Given the description of an element on the screen output the (x, y) to click on. 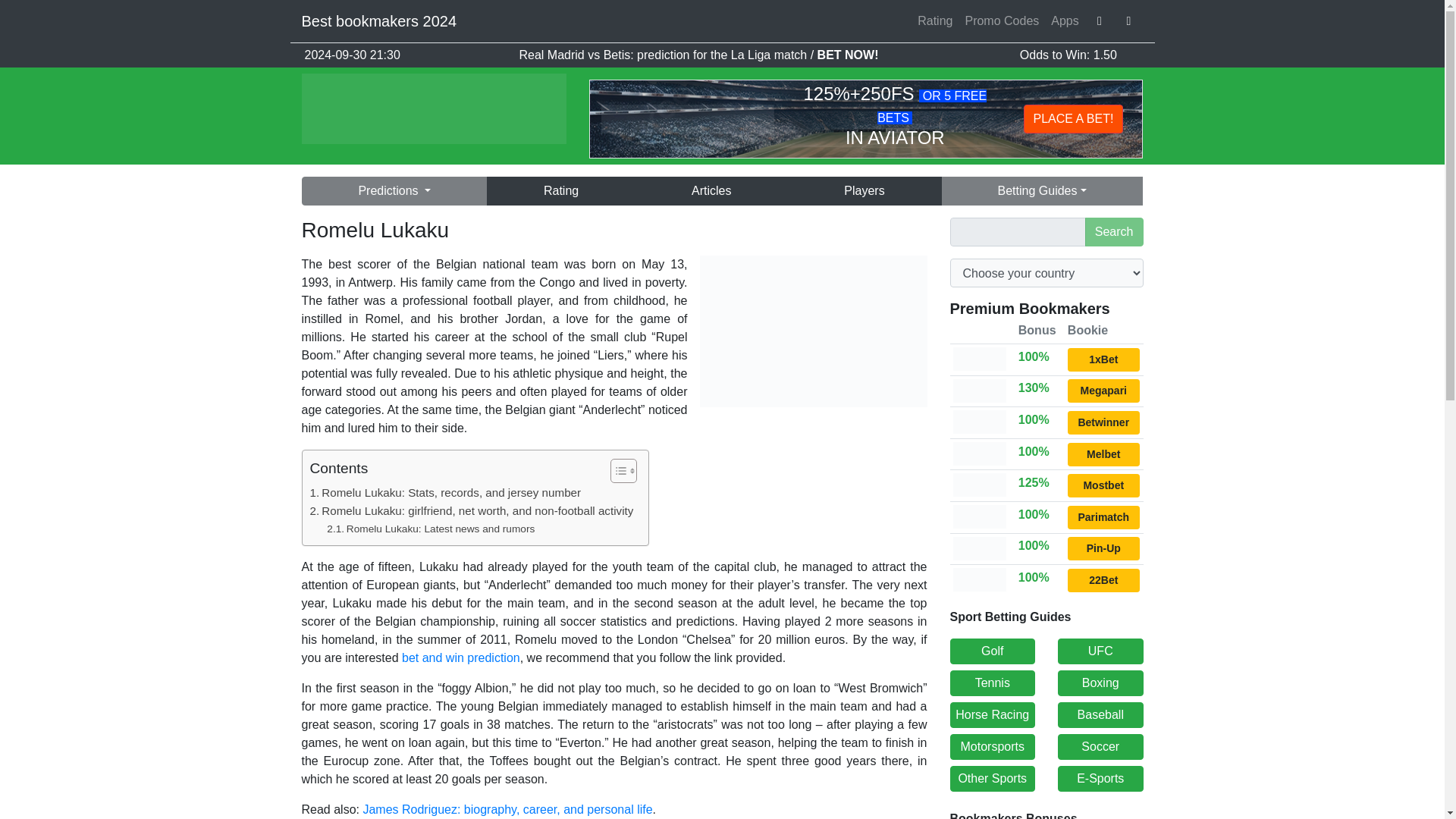
Rating (934, 20)
Promo code: ODDS2WIN (1103, 485)
Romelu Lukaku: Stats, records, and jersey number (444, 493)
Promo code: ODDS2WIN (1103, 390)
Real Madrid vs Betis: prediction for the La Liga match (663, 54)
Promo Codes (1001, 20)
Articles (710, 190)
Rating (560, 190)
Search (1113, 231)
